Given the description of an element on the screen output the (x, y) to click on. 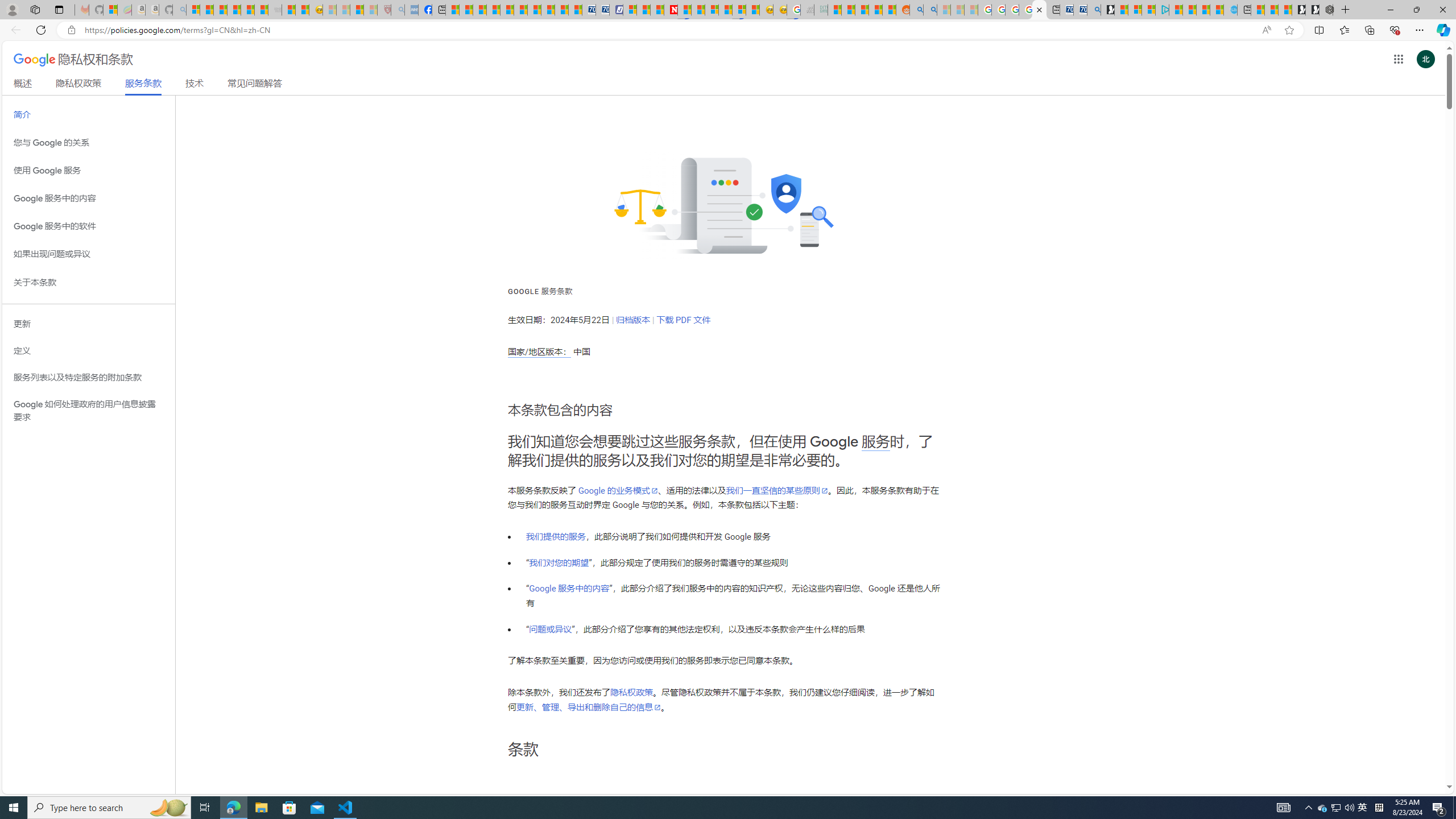
Home | Sky Blue Bikes - Sky Blue Bikes (1229, 9)
14 Common Myths Debunked By Scientific Facts (697, 9)
New Report Confirms 2023 Was Record Hot | Watch (247, 9)
